Given the description of an element on the screen output the (x, y) to click on. 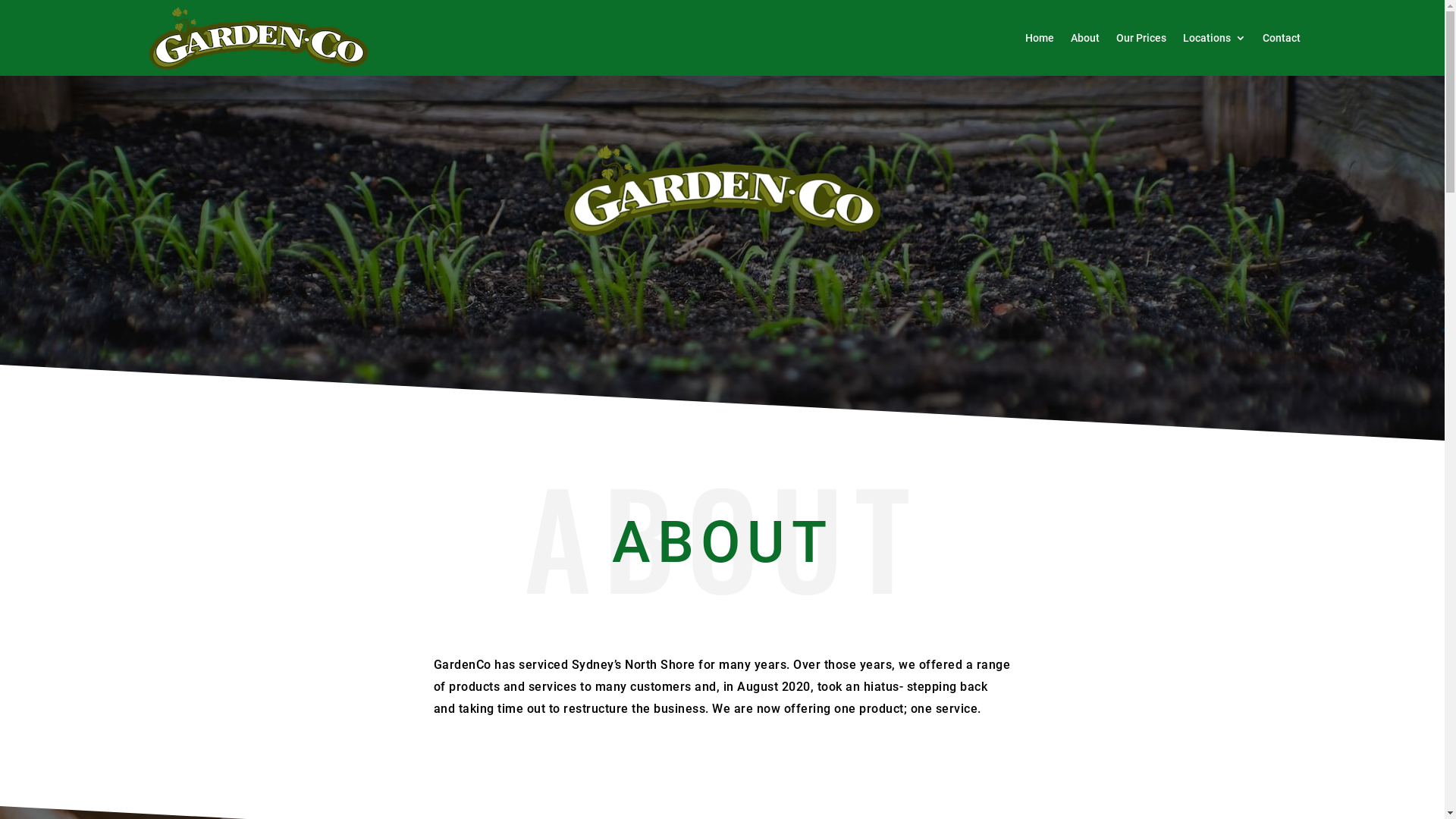
Home Element type: text (1039, 37)
Our Prices Element type: text (1141, 37)
Contact Element type: text (1280, 37)
Locations Element type: text (1214, 37)
gardenco-logo-new-medium Element type: hover (722, 189)
About Element type: text (1084, 37)
